Given the description of an element on the screen output the (x, y) to click on. 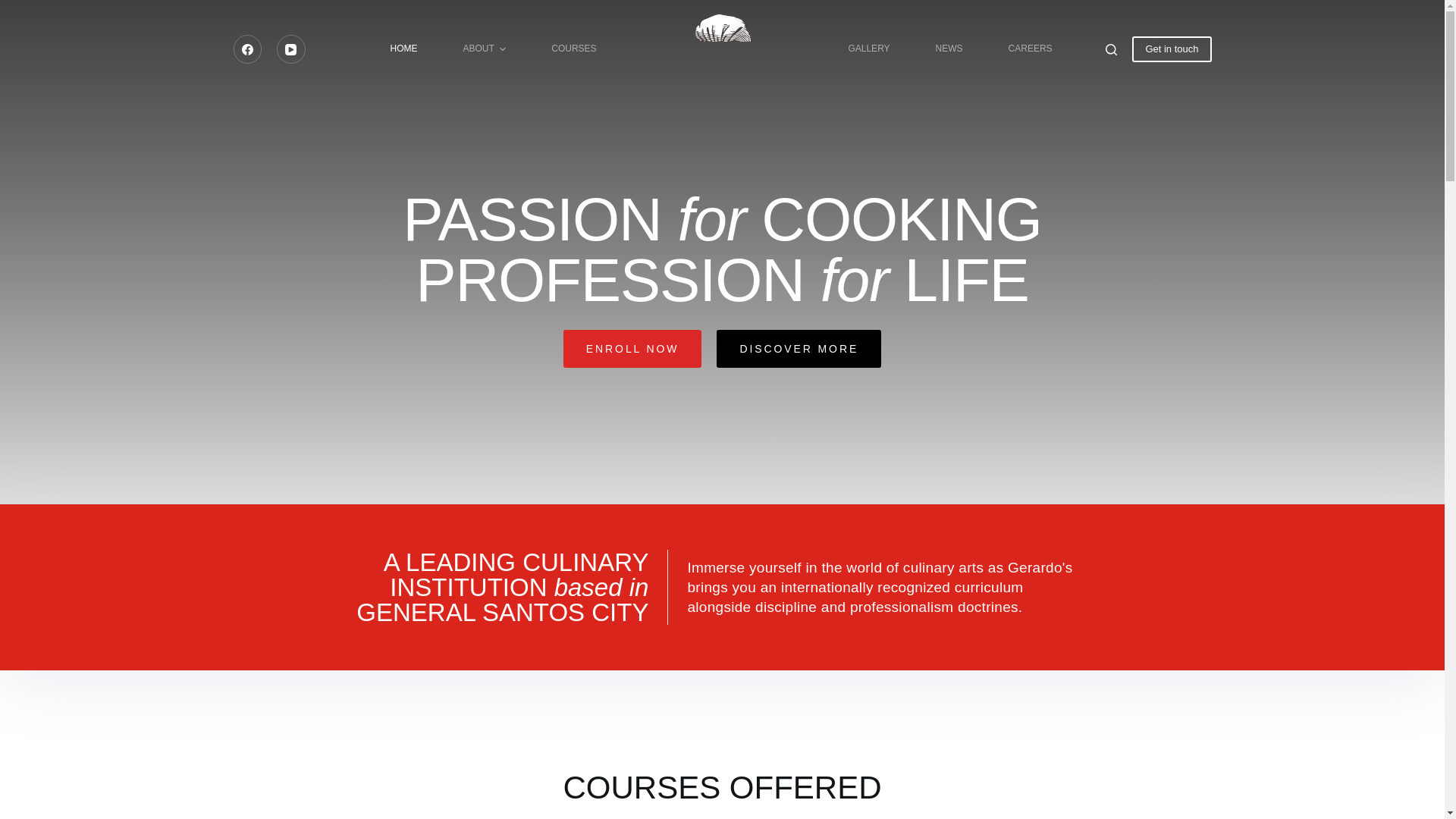
Skip to content (15, 7)
ENROLL NOW (632, 348)
ABOUT (483, 49)
DISCOVER MORE (798, 348)
Get in touch (1171, 49)
